Given the description of an element on the screen output the (x, y) to click on. 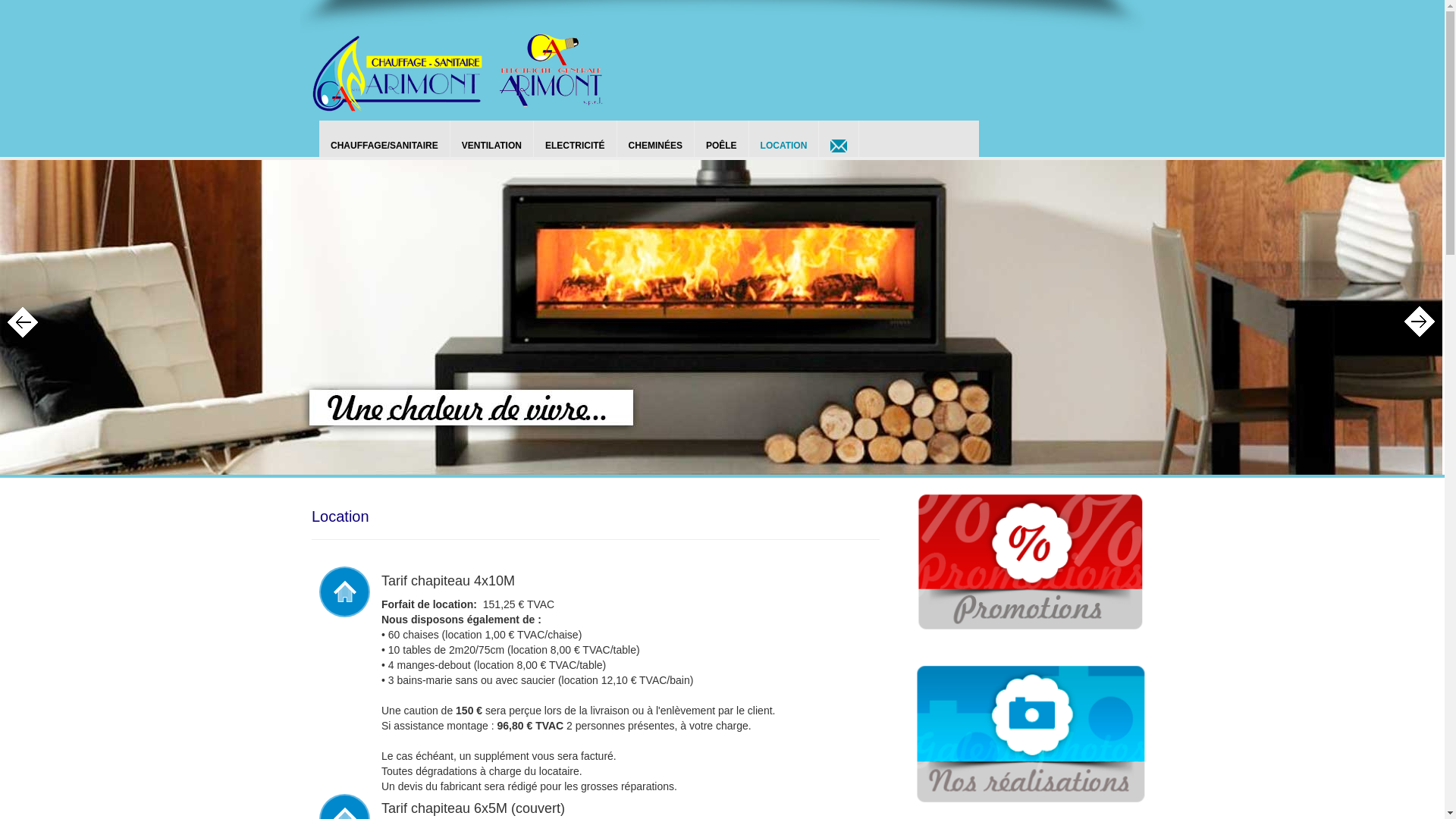
LOCATION Element type: text (784, 138)
VENTILATION Element type: text (491, 138)
CHAUFFAGE/SANITAIRE Element type: text (384, 138)
next Element type: text (1419, 321)
previous Element type: text (27, 321)
